Given the description of an element on the screen output the (x, y) to click on. 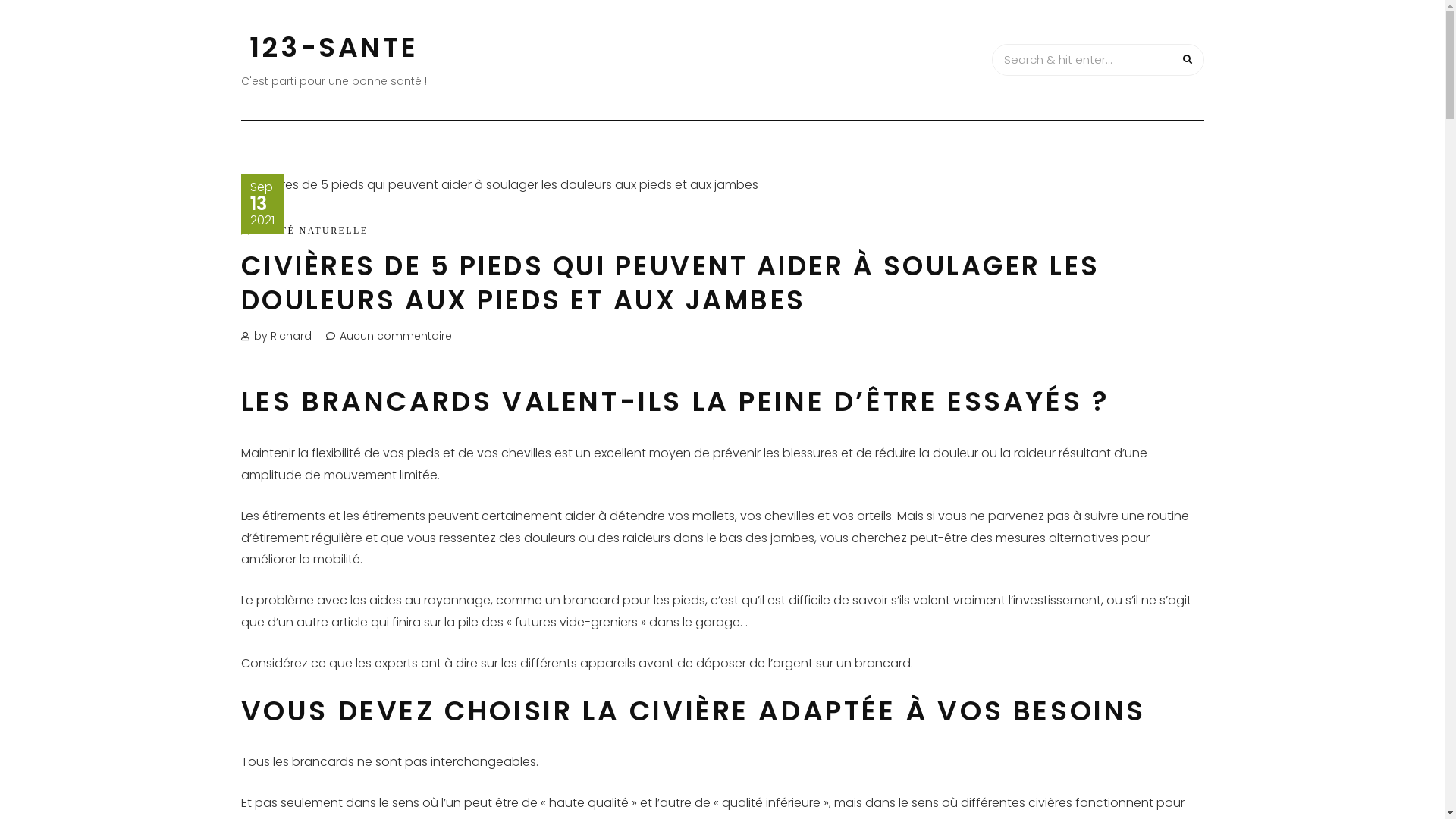
123-SANTE Element type: text (333, 47)
